Given the description of an element on the screen output the (x, y) to click on. 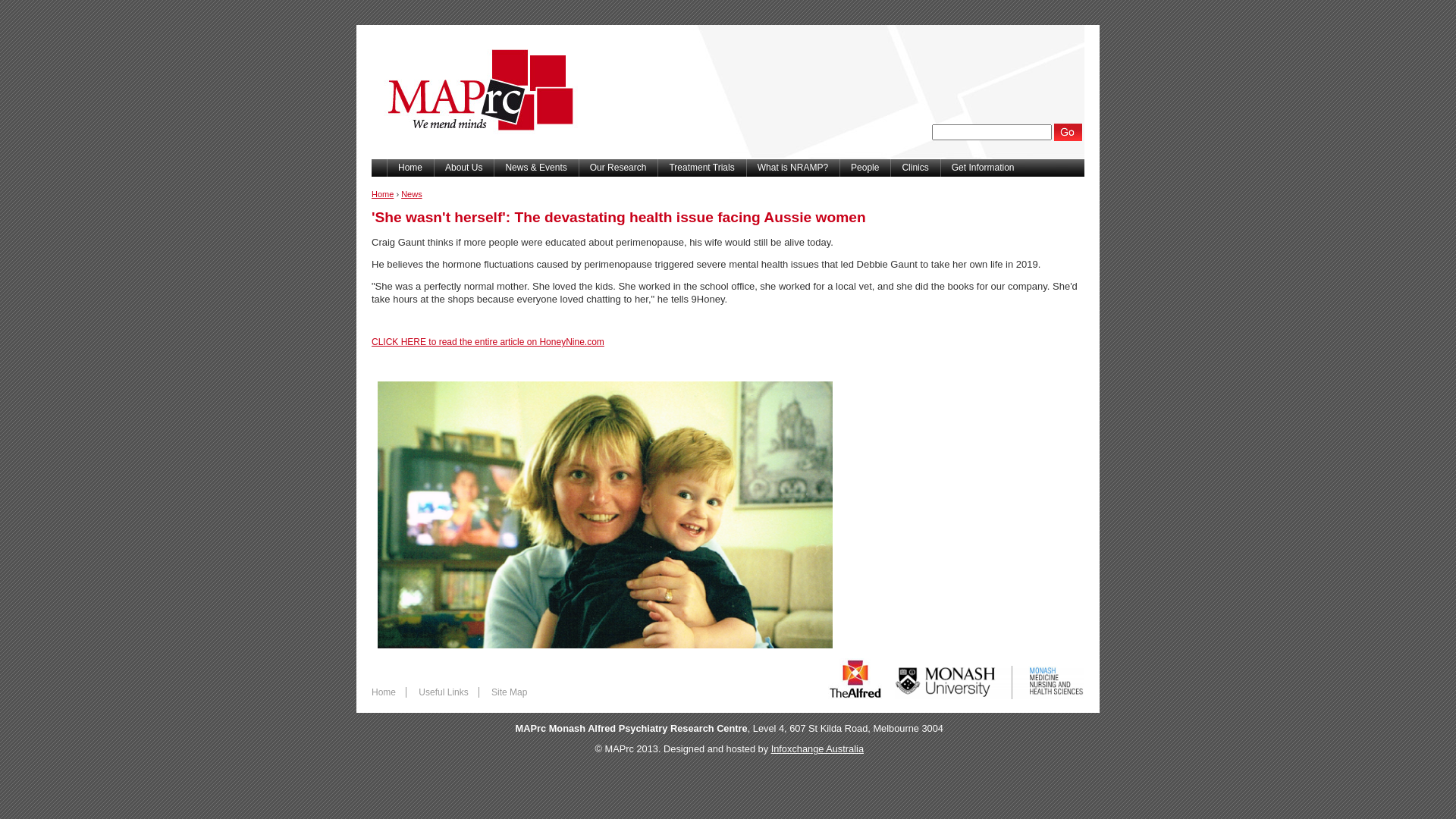
People Element type: text (864, 167)
Home Element type: hover (475, 155)
What is NRAMP? Element type: text (792, 167)
About Us Element type: text (463, 167)
Infoxchange Australia Element type: text (817, 748)
Site Map Element type: text (509, 692)
News & Events Element type: text (535, 167)
Get Information Element type: text (983, 167)
Treatment Trials Element type: text (701, 167)
CLICK HERE to read the entire article on HoneyNine.com Element type: text (487, 341)
Search Element type: text (1069, 132)
Clinics Element type: text (914, 167)
Enter the terms you wish to search for. Element type: hover (991, 132)
Useful Links Element type: text (442, 692)
Home Element type: text (409, 167)
Our Research Element type: text (618, 167)
Home Element type: text (383, 692)
Home Element type: text (382, 193)
News Element type: text (411, 193)
